Given the description of an element on the screen output the (x, y) to click on. 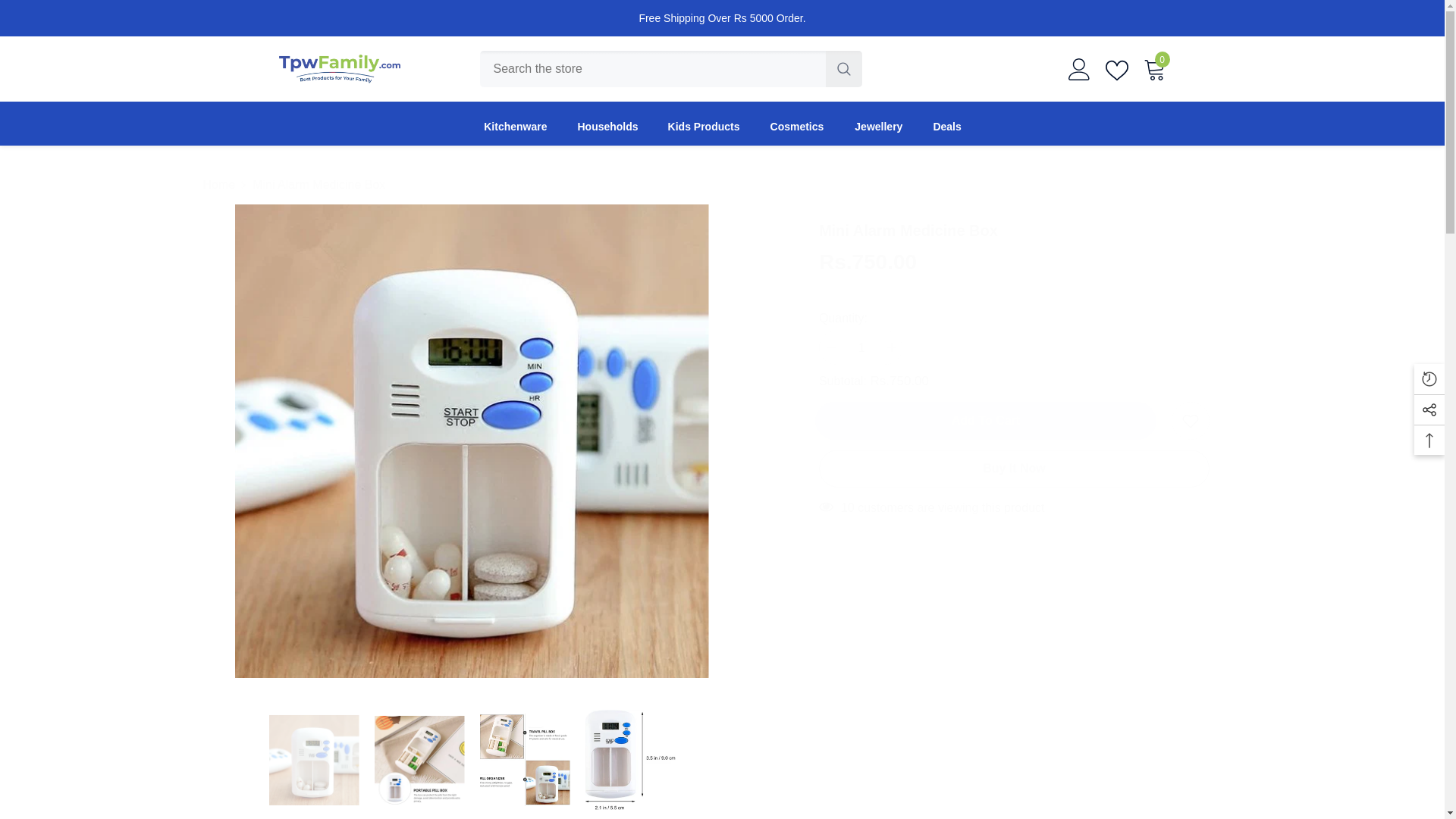
Buy It Now (1013, 468)
Kids Products (703, 131)
1 (860, 347)
Home (219, 185)
Kitchenware (515, 131)
Households (607, 131)
Deals (946, 131)
10 customers are viewing this product (1154, 68)
Rs.750.00 (1013, 515)
Jewellery (1013, 268)
Cosmetics (878, 131)
Add To Cart (797, 131)
Add to wishlist (989, 420)
